Given the description of an element on the screen output the (x, y) to click on. 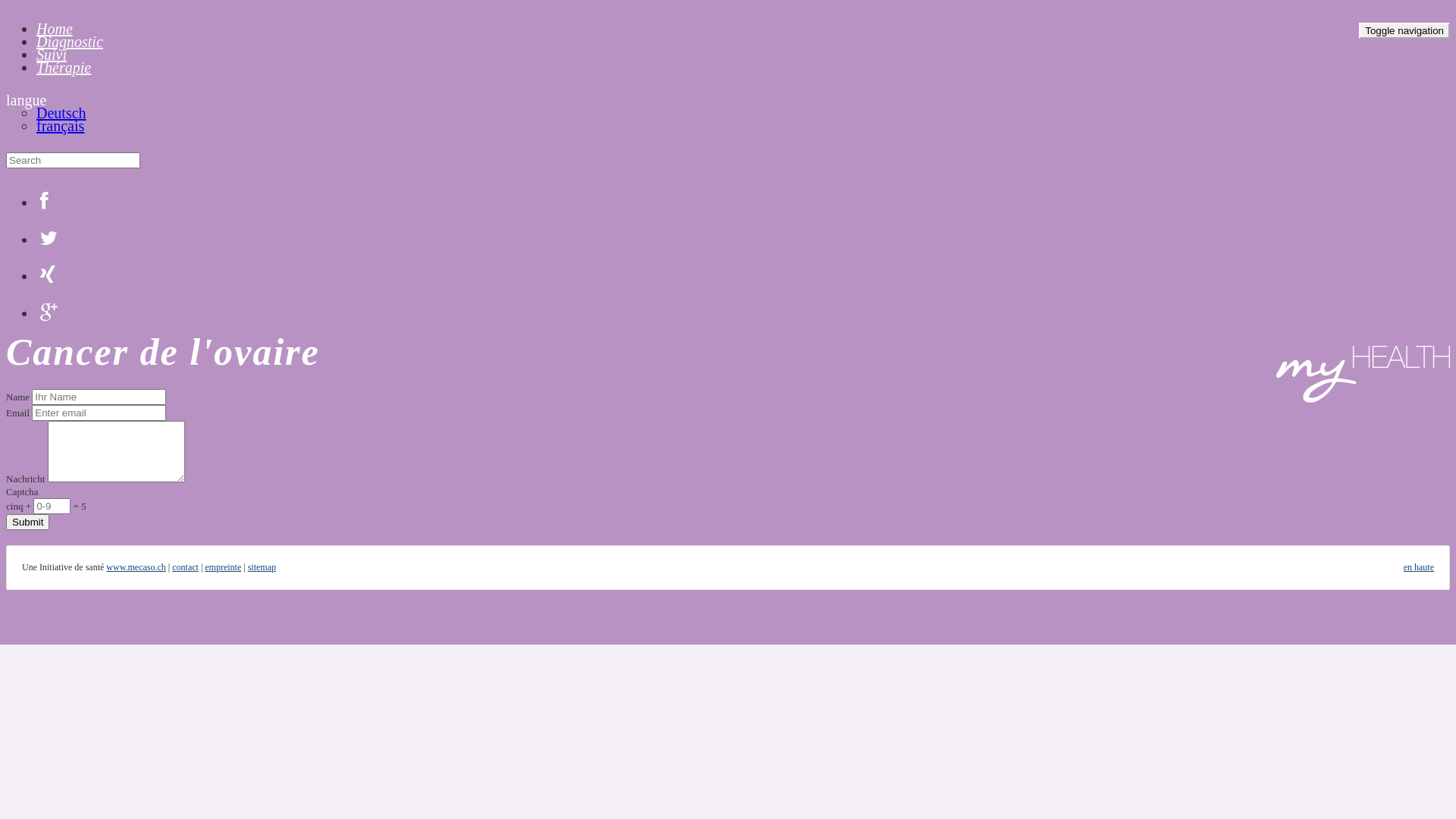
Toggle navigation Element type: text (1403, 30)
empreinte Element type: text (222, 566)
Submit Element type: text (27, 522)
en haute Element type: text (1418, 566)
contact Element type: text (185, 566)
www.mecaso.ch Element type: text (136, 566)
Suivi Element type: text (51, 54)
Home Element type: text (54, 28)
langue Element type: text (26, 99)
Diagnostic Element type: text (69, 41)
Deutsch Element type: text (61, 112)
sitemap Element type: text (261, 566)
